Given the description of an element on the screen output the (x, y) to click on. 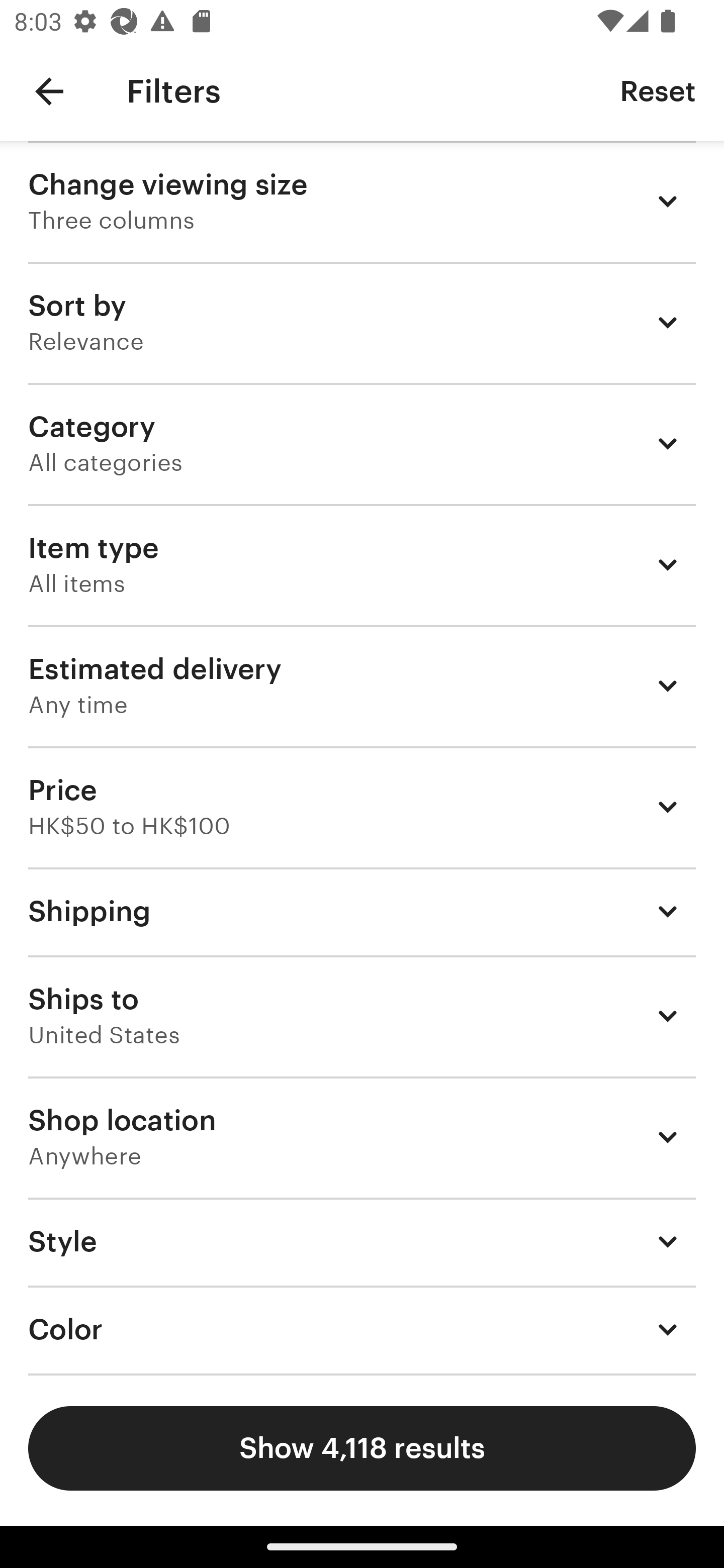
Navigate up (49, 91)
Reset (657, 90)
Change viewing size Three columns (362, 201)
Sort by Relevance (362, 321)
Category All categories (362, 442)
Item type All items (362, 564)
Estimated delivery Any time (362, 685)
Price HK$50 to HK$100 (362, 806)
Shipping (362, 910)
Ships to United States (362, 1015)
Shop location Anywhere (362, 1137)
Style (362, 1241)
Color (362, 1329)
Show 4,118 results Show results (361, 1448)
